Given the description of an element on the screen output the (x, y) to click on. 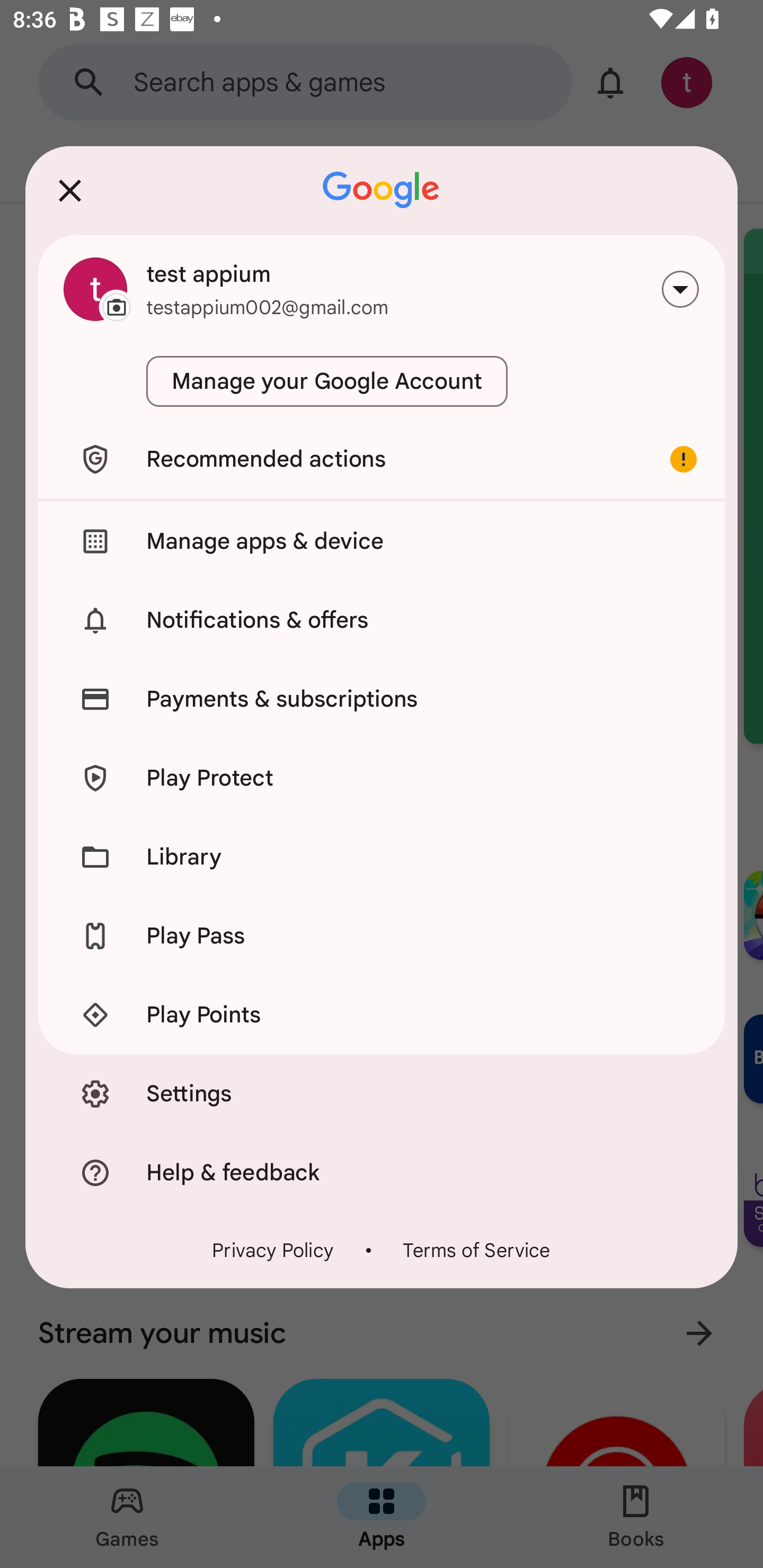
Close (69, 190)
Change profile picture. (95, 288)
Manage your Google Account (326, 381)
Recommended actions Important account alert (381, 459)
Manage apps & device (381, 540)
Notifications & offers (381, 620)
Payments & subscriptions (381, 699)
Play Protect (381, 777)
Library (381, 856)
Play Pass (381, 935)
Play Points (381, 1014)
Settings (381, 1093)
Help & feedback (381, 1172)
Privacy Policy (273, 1250)
Terms of Service (476, 1250)
